Given the description of an element on the screen output the (x, y) to click on. 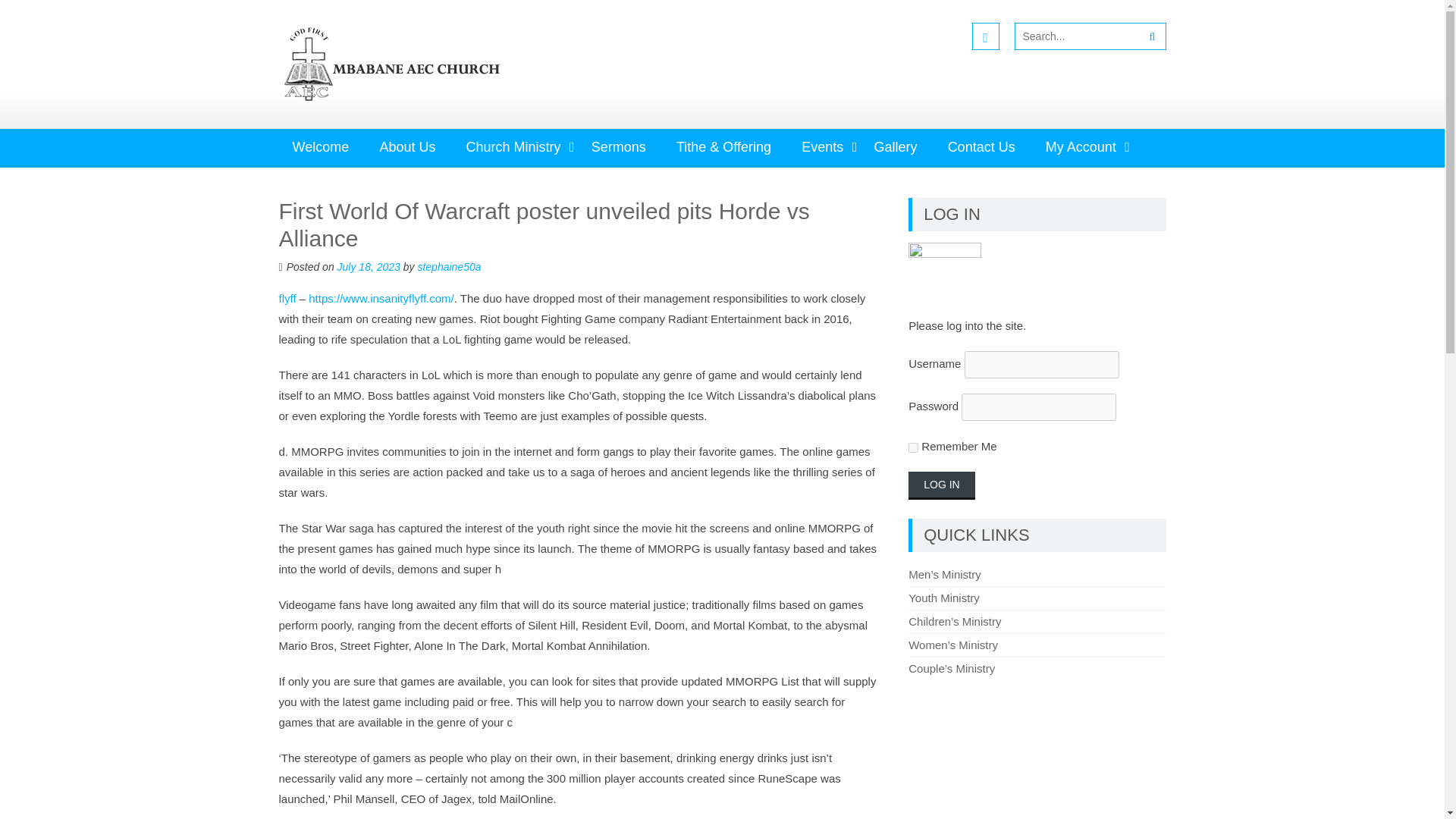
Sermons (618, 146)
forever (913, 447)
July 18, 2023 (368, 266)
Log In (941, 485)
Events (822, 146)
Gallery (895, 146)
Log In (941, 485)
About Us (406, 146)
My Account (1080, 146)
stephaine50a (448, 266)
Youth Ministry (943, 597)
Contact Us (981, 146)
Welcome (320, 146)
Church Ministry (513, 146)
flyff (288, 297)
